Given the description of an element on the screen output the (x, y) to click on. 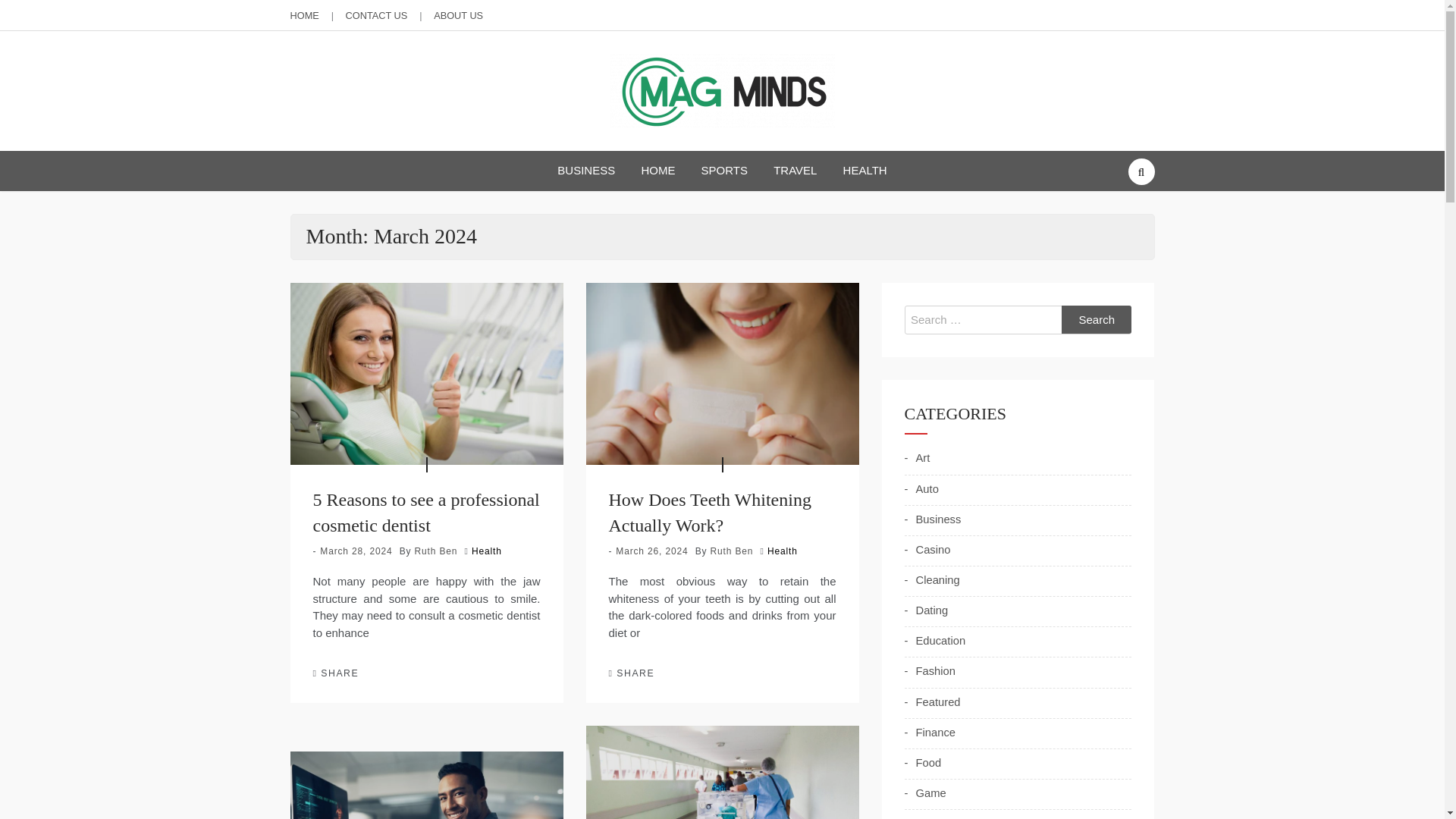
HEALTH (864, 170)
Search (1096, 319)
Health (782, 551)
BUSINESS (585, 170)
Search (1096, 319)
How Does Teeth Whitening Actually Work? (709, 512)
Health (486, 551)
Ruth Ben (732, 551)
5 Reasons to see a professional cosmetic dentist (425, 512)
SPORTS (724, 170)
